Given the description of an element on the screen output the (x, y) to click on. 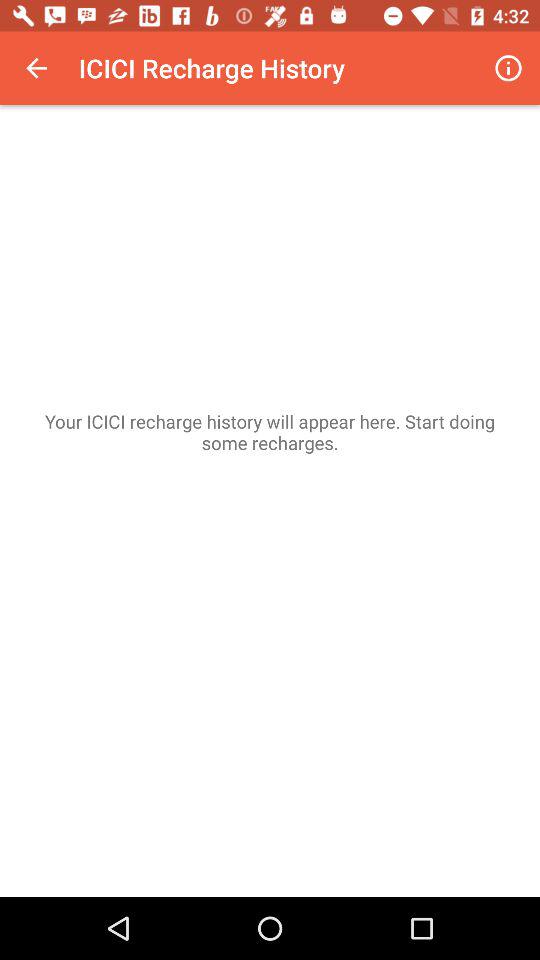
tap the icon next to icici recharge history item (36, 68)
